Given the description of an element on the screen output the (x, y) to click on. 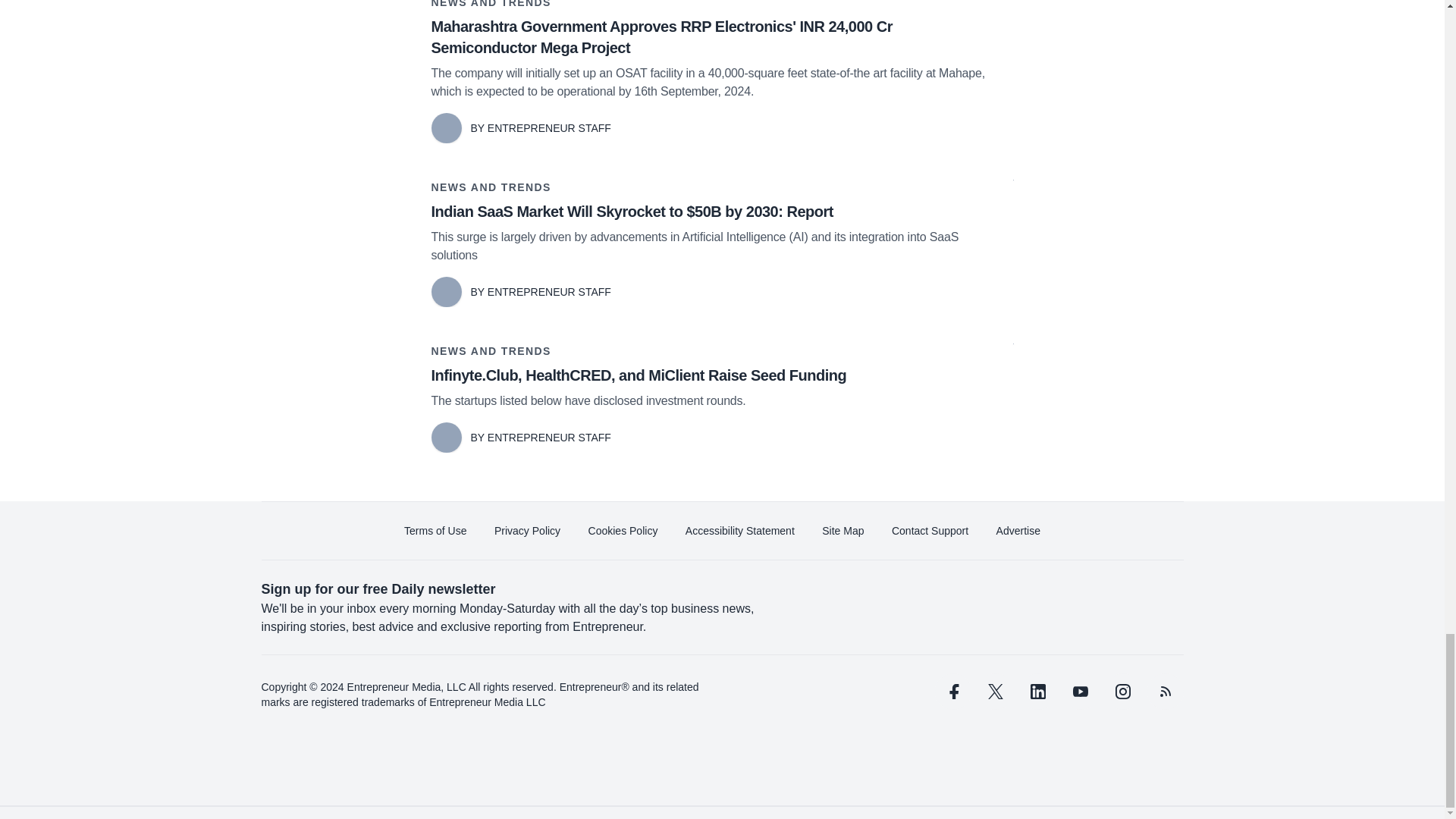
facebook (952, 691)
rss (1164, 691)
linkedin (1037, 691)
instagram (1121, 691)
twitter (994, 691)
youtube (1079, 691)
